Given the description of an element on the screen output the (x, y) to click on. 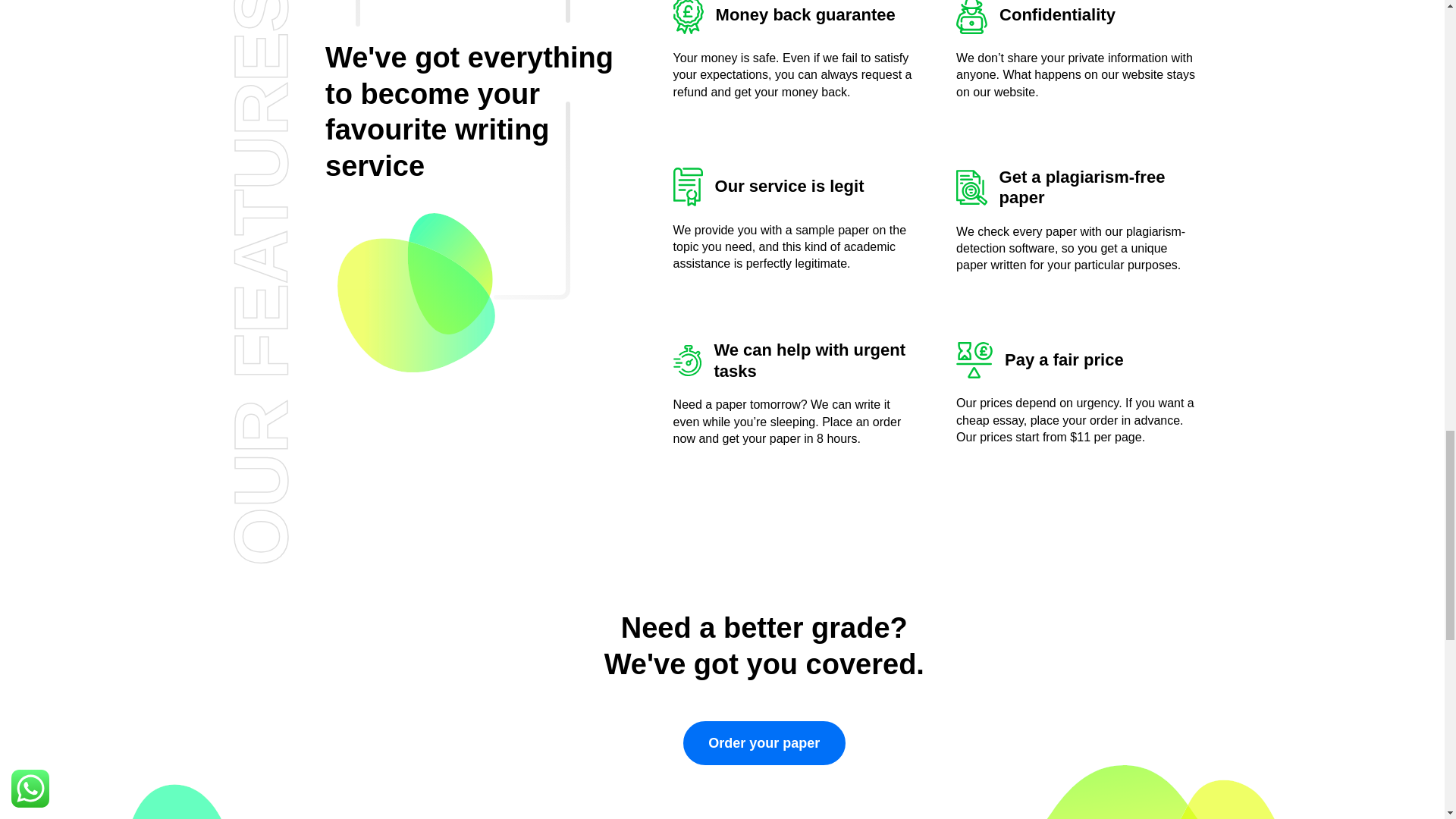
Order your paper (763, 742)
